Given the description of an element on the screen output the (x, y) to click on. 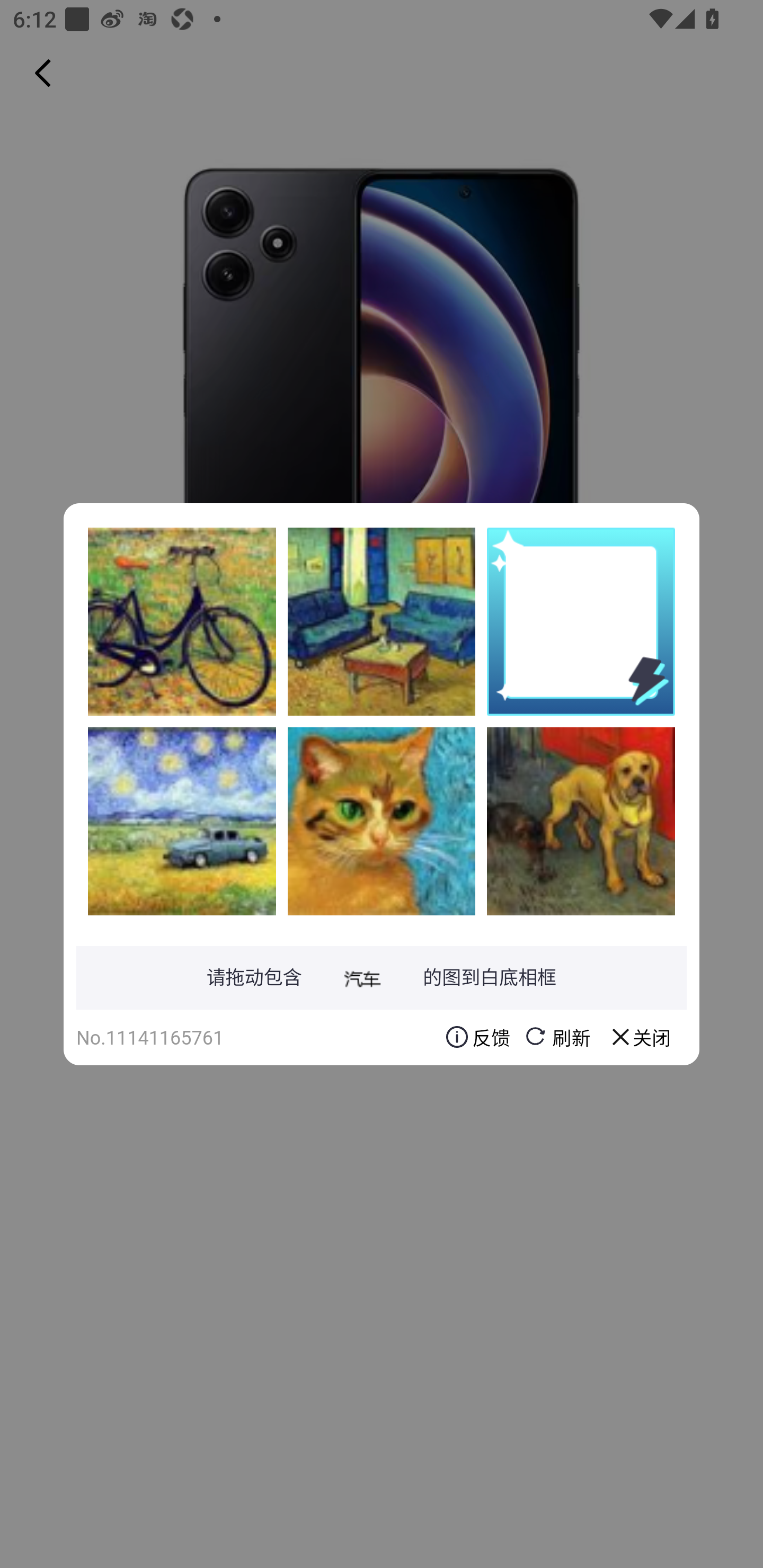
QZRj51CPOSIOvIpCSB (381, 621)
TKqLfNPaJZXF (181, 820)
mzU9BDcVeMIHpTNNlKZSpkRtZL9bUkqTEiDj (381, 820)
